Given the description of an element on the screen output the (x, y) to click on. 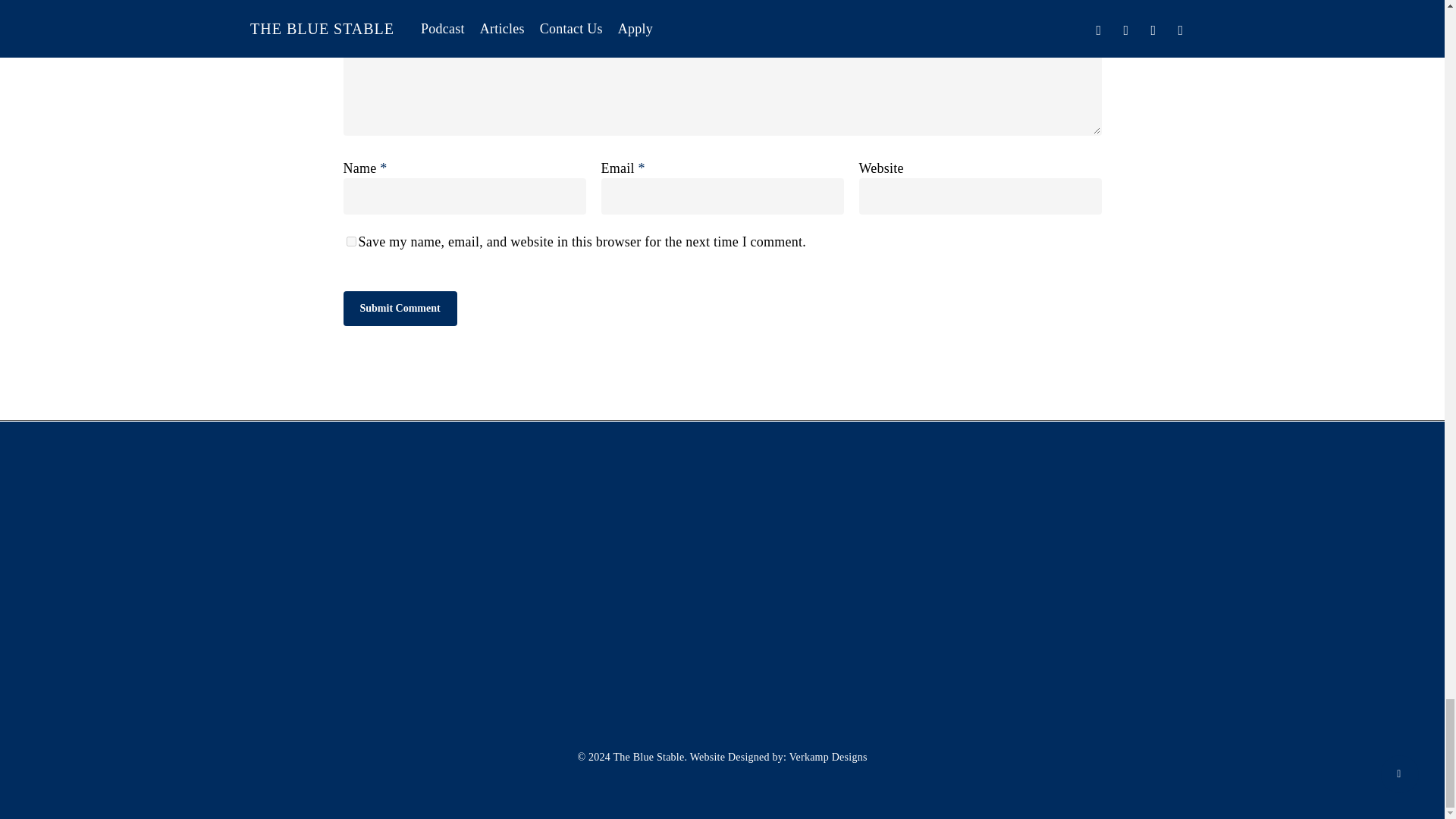
Submit Comment (399, 308)
yes (350, 241)
Submit Comment (399, 308)
